Given the description of an element on the screen output the (x, y) to click on. 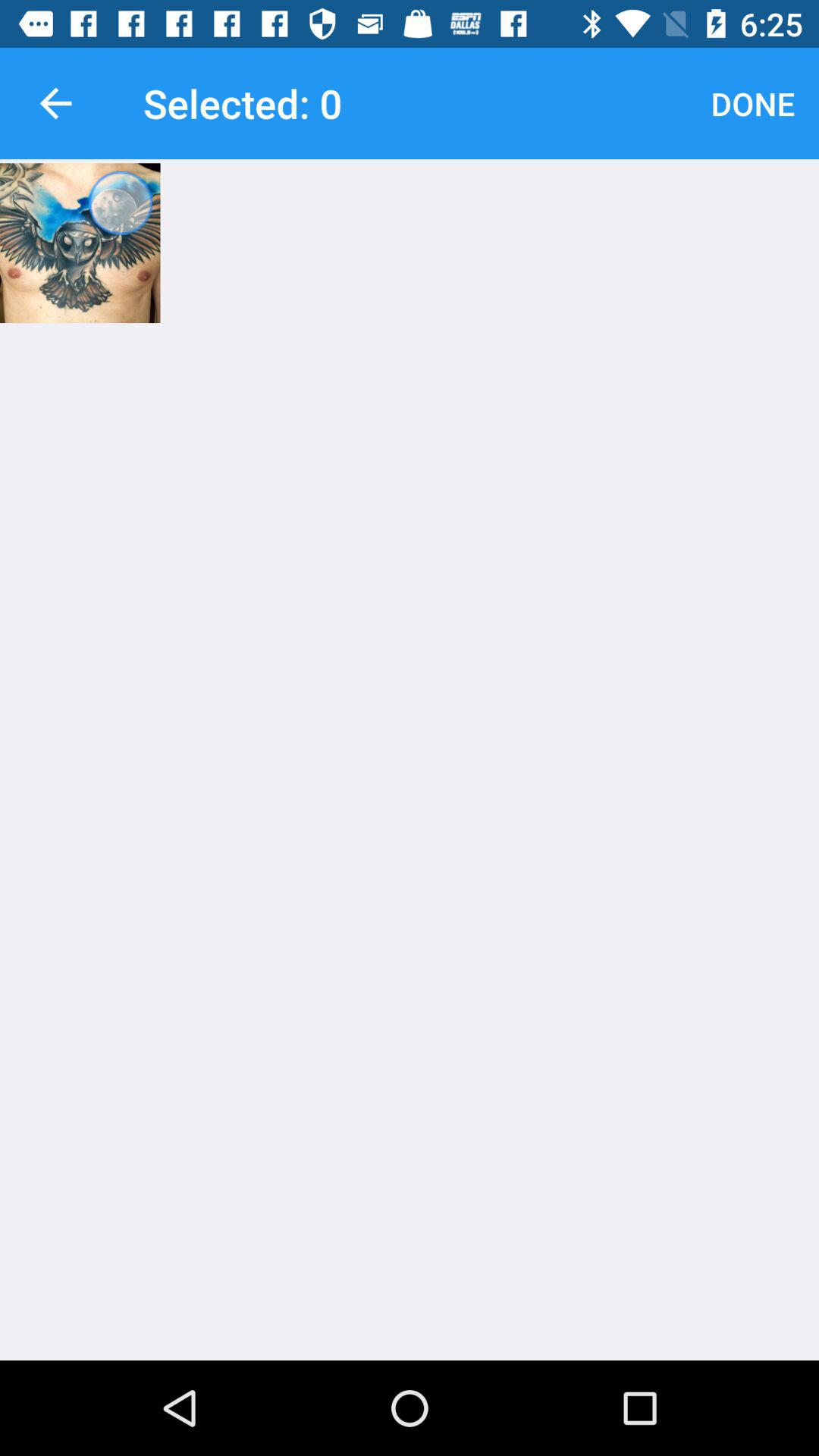
jump until done icon (753, 103)
